Given the description of an element on the screen output the (x, y) to click on. 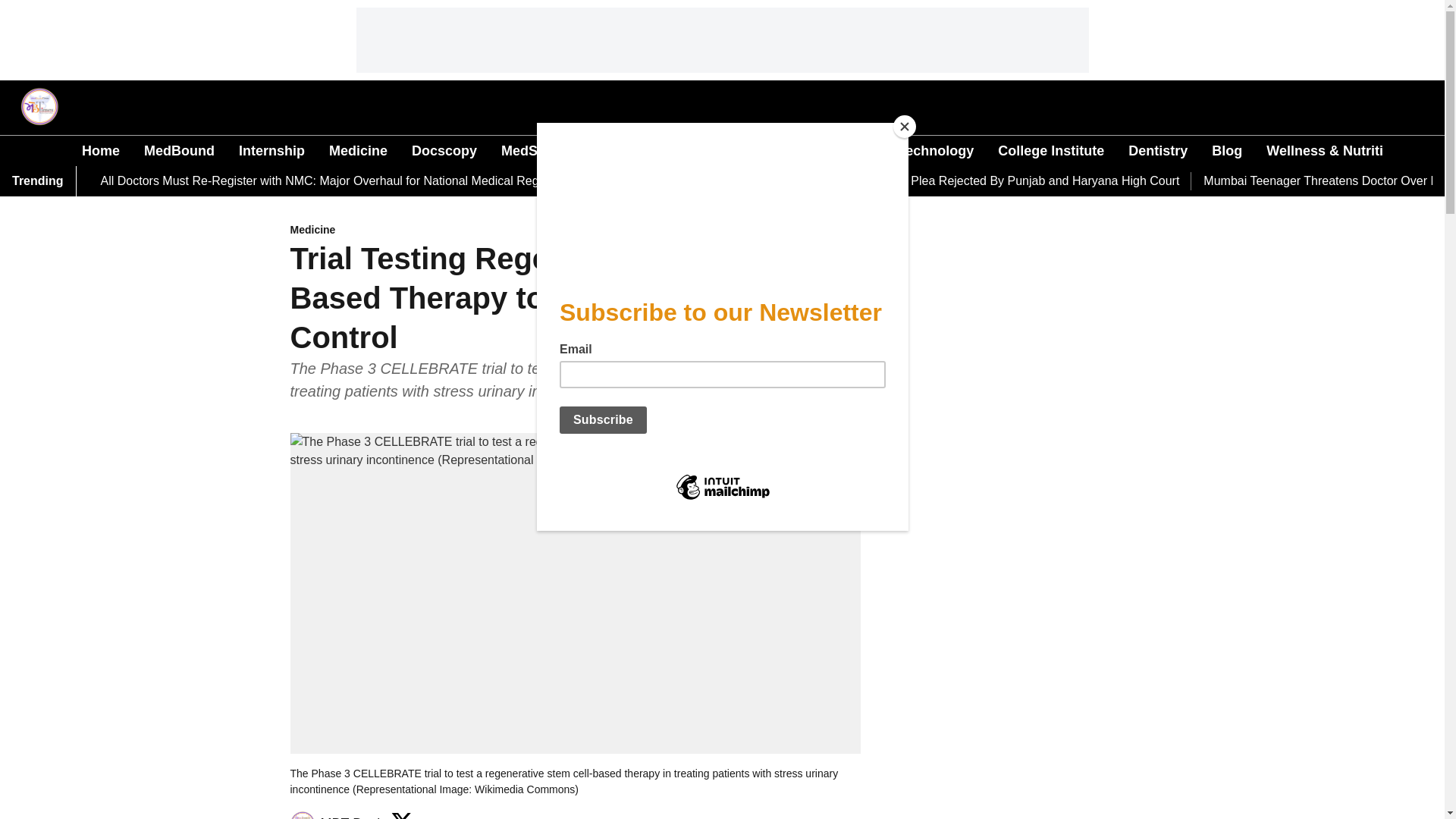
Medicine (358, 150)
Dentistry (1158, 150)
Forms (607, 150)
Physical Therapy (798, 150)
Biotechnology (926, 150)
Blog (1226, 150)
MedBound (179, 150)
Pharmacy (684, 150)
Home (100, 150)
MedSight (531, 150)
